Given the description of an element on the screen output the (x, y) to click on. 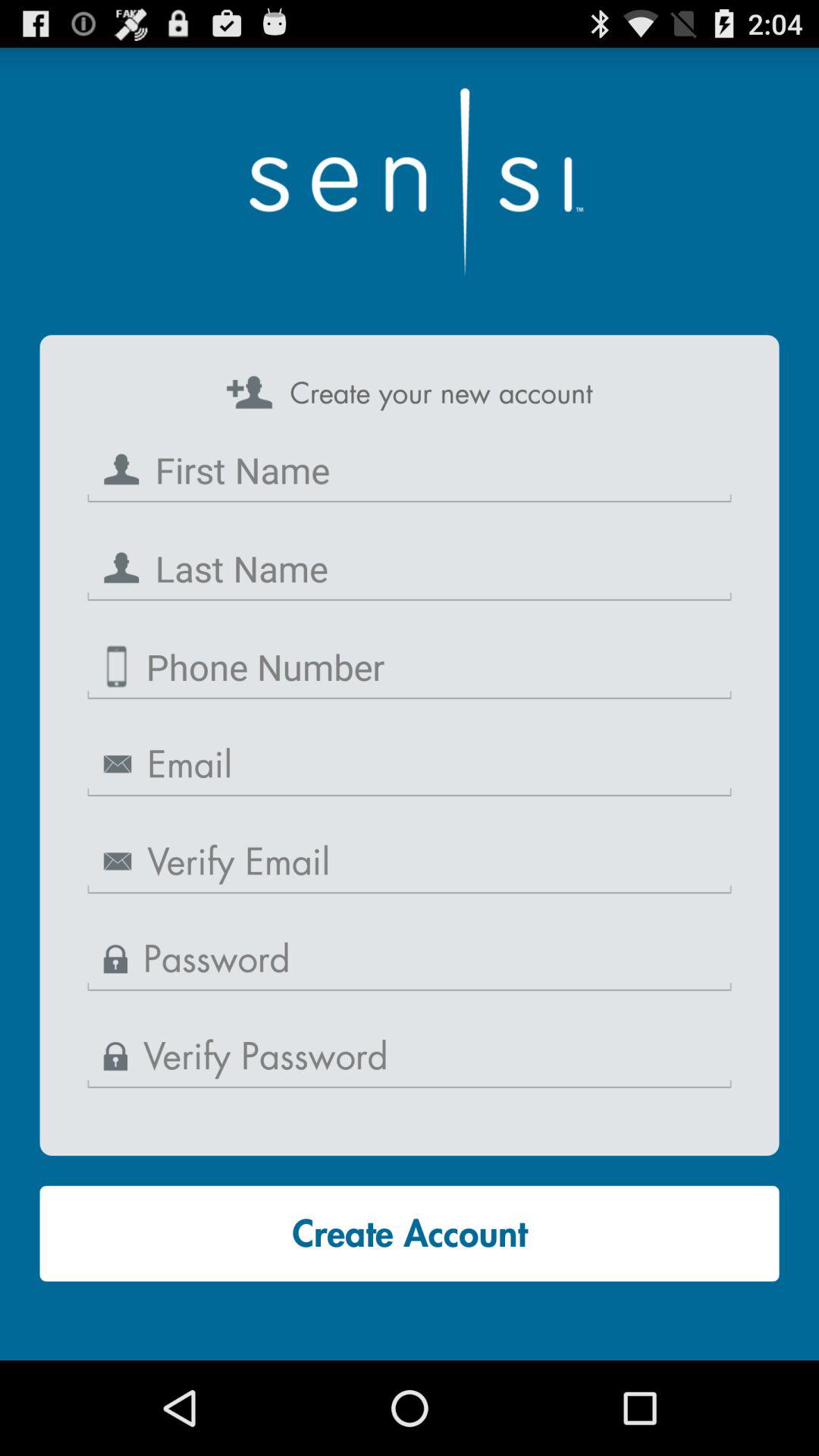
sine in with password (409, 959)
